Given the description of an element on the screen output the (x, y) to click on. 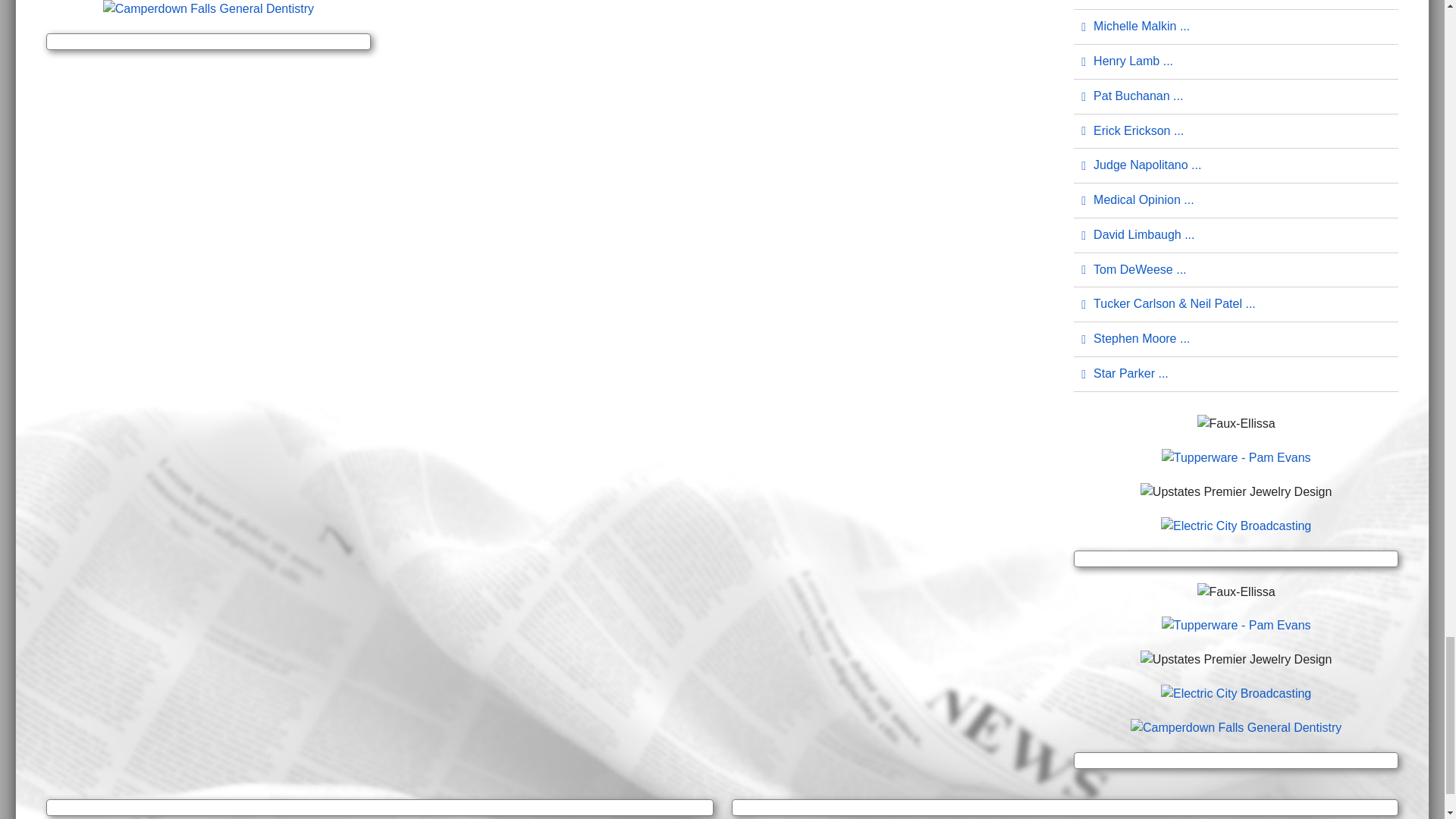
Tupperware - Pam Evans (1236, 456)
Electric City Broadcasting (1235, 524)
Electric City Broadcasting (1235, 692)
Tupperware - Pam Evans (1236, 625)
Camperdown Falls General Dentistry (1235, 726)
